Given the description of an element on the screen output the (x, y) to click on. 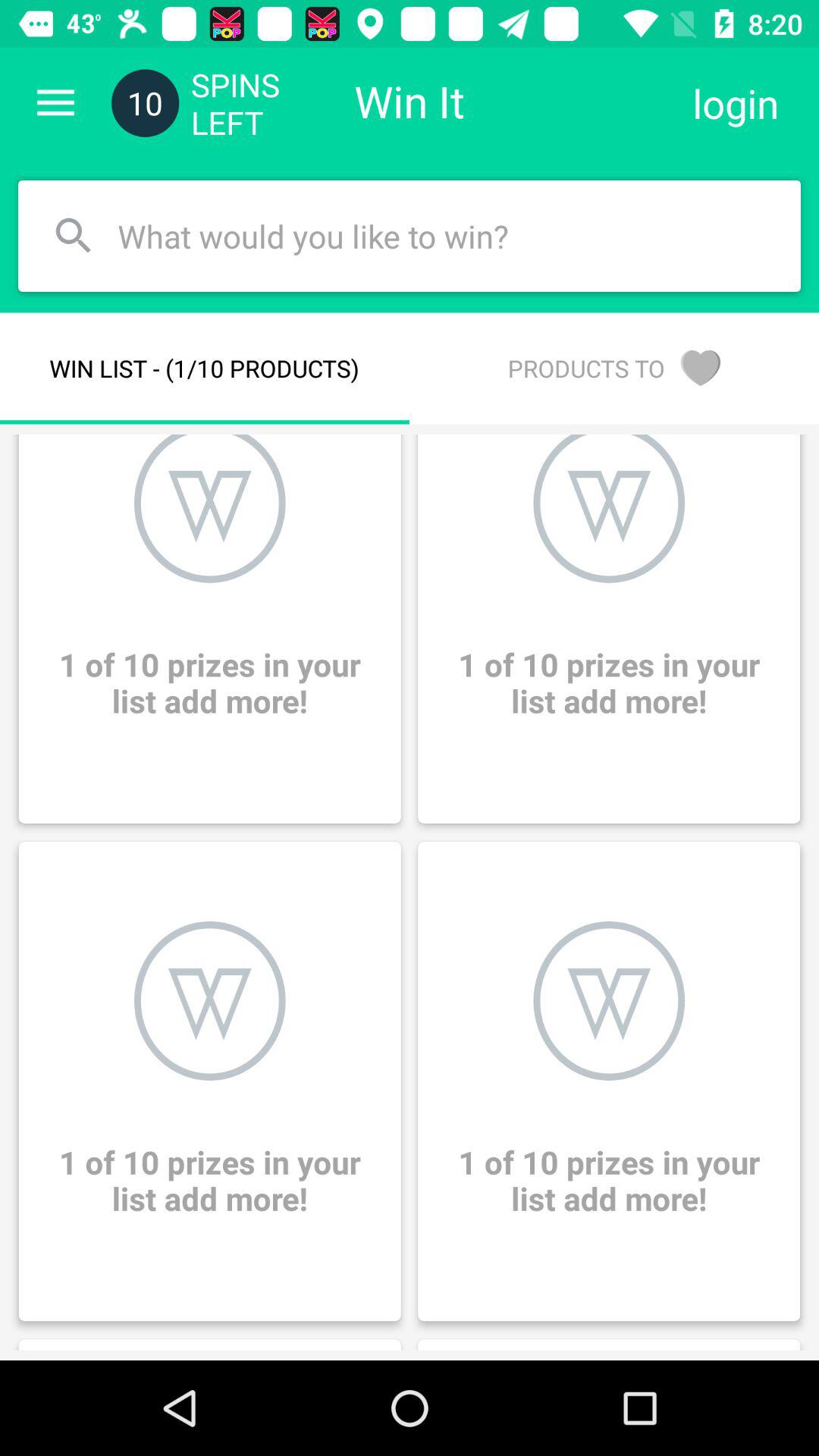
click item to the left of the 10 (55, 103)
